Given the description of an element on the screen output the (x, y) to click on. 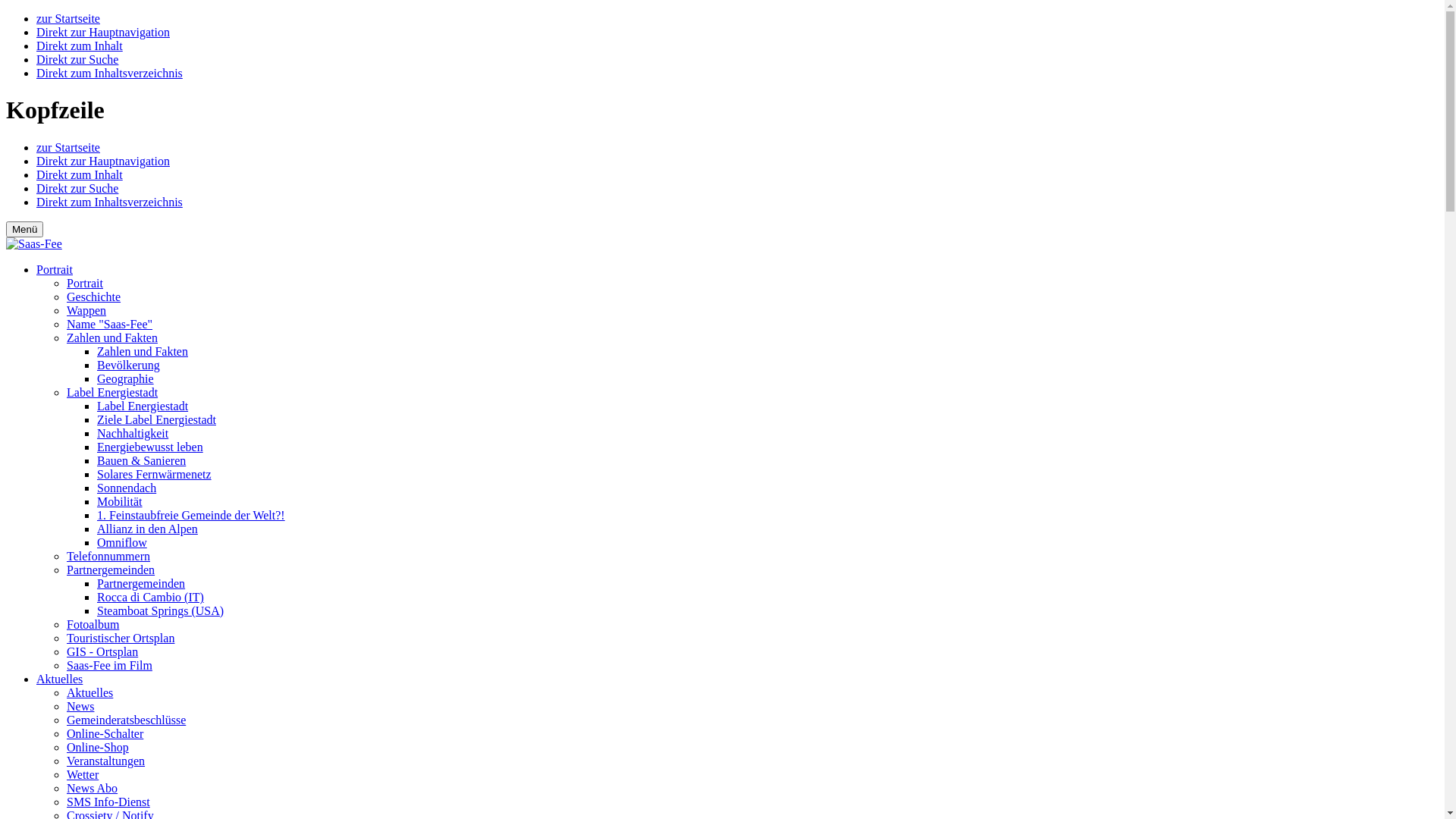
News Element type: text (80, 705)
SMS Info-Dienst Element type: text (108, 801)
Ziele Label Energiestadt Element type: text (156, 419)
Omniflow Element type: text (122, 542)
Aktuelles Element type: text (59, 678)
Partnergemeinden Element type: text (141, 583)
Zahlen und Fakten Element type: text (142, 351)
Partnergemeinden Element type: text (110, 569)
Name "Saas-Fee" Element type: text (109, 323)
Zahlen und Fakten Element type: text (111, 337)
Direkt zum Inhaltsverzeichnis Element type: text (109, 201)
zur Startseite Element type: text (68, 147)
Direkt zur Suche Element type: text (77, 188)
Portrait Element type: text (54, 269)
Sonnendach Element type: text (126, 487)
Nachhaltigkeit Element type: text (132, 432)
Geschichte Element type: text (93, 296)
Geographie Element type: text (125, 378)
Direkt zur Hauptnavigation Element type: text (102, 160)
Direkt zur Suche Element type: text (77, 59)
Bauen & Sanieren Element type: text (141, 460)
Direkt zum Inhalt Element type: text (79, 174)
Saas-Fee im Film Element type: text (109, 664)
Direkt zum Inhaltsverzeichnis Element type: text (109, 72)
Touristischer Ortsplan Element type: text (120, 637)
Direkt zur Hauptnavigation Element type: text (102, 31)
Online-Shop Element type: text (97, 746)
Label Energiestadt Element type: text (111, 391)
Aktuelles Element type: text (89, 692)
Wappen Element type: text (86, 310)
Online-Schalter Element type: text (104, 733)
Telefonnummern Element type: text (108, 555)
Rocca di Cambio (IT) Element type: text (150, 596)
Fotoalbum Element type: text (92, 624)
Steamboat Springs (USA) Element type: text (160, 610)
Label Energiestadt Element type: text (142, 405)
Energiebewusst leben Element type: text (150, 446)
News Abo Element type: text (91, 787)
1. Feinstaubfreie Gemeinde der Welt?! Element type: text (191, 514)
Veranstaltungen Element type: text (105, 760)
Wetter Element type: text (82, 774)
Allianz in den Alpen Element type: text (147, 528)
Portrait Element type: text (84, 282)
zur Startseite Element type: text (68, 18)
Direkt zum Inhalt Element type: text (79, 45)
GIS - Ortsplan Element type: text (102, 651)
